Given the description of an element on the screen output the (x, y) to click on. 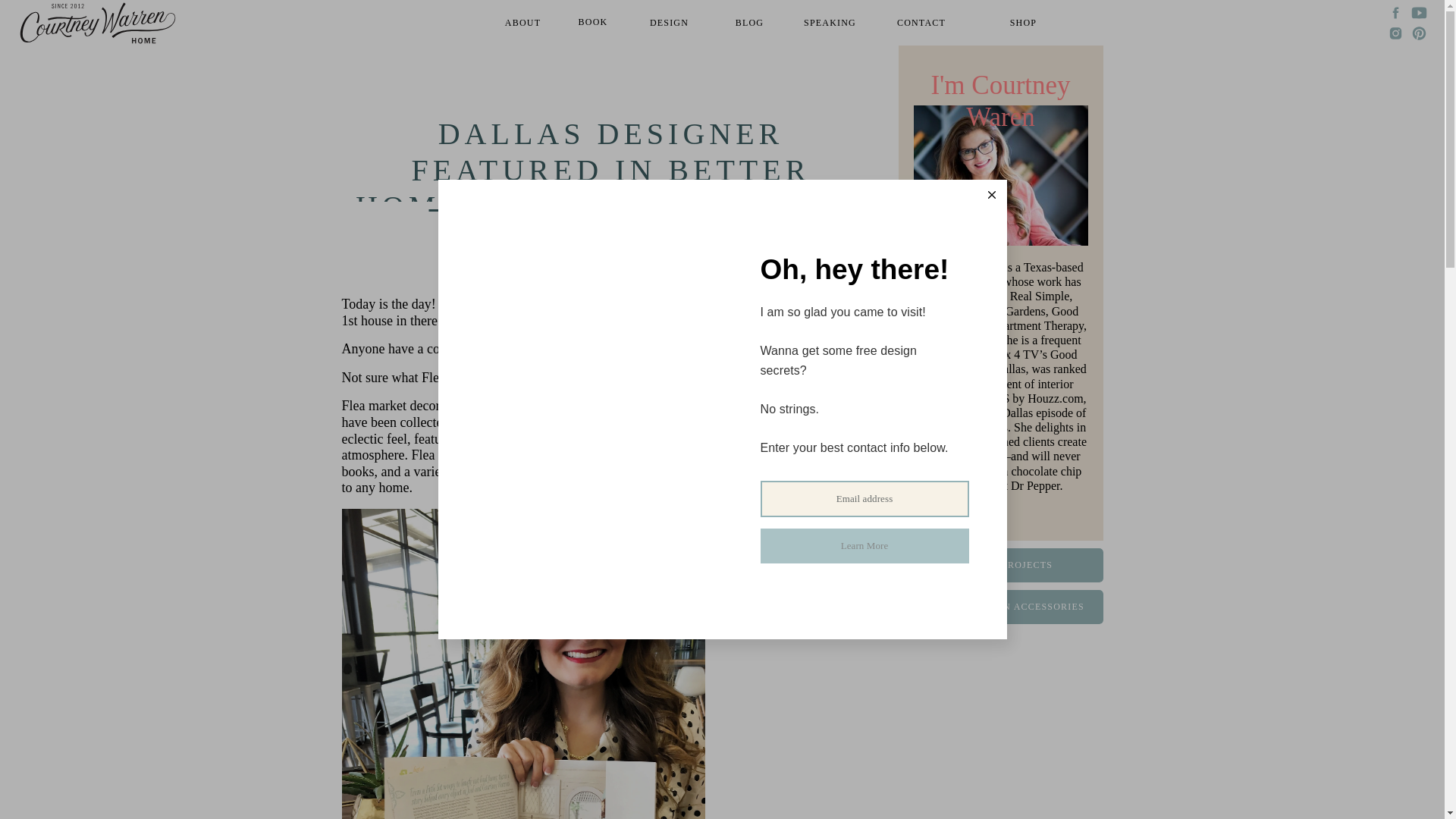
SHOP (1022, 23)
SPEAKING (830, 23)
CONTACT (920, 23)
MY GO-TO DESIGN ACCESSORIES (1000, 607)
SHOP THE PROJECTS (1000, 565)
ABOUT (522, 23)
BOOK (592, 22)
BLOG (749, 23)
DESIGN (669, 23)
